Given the description of an element on the screen output the (x, y) to click on. 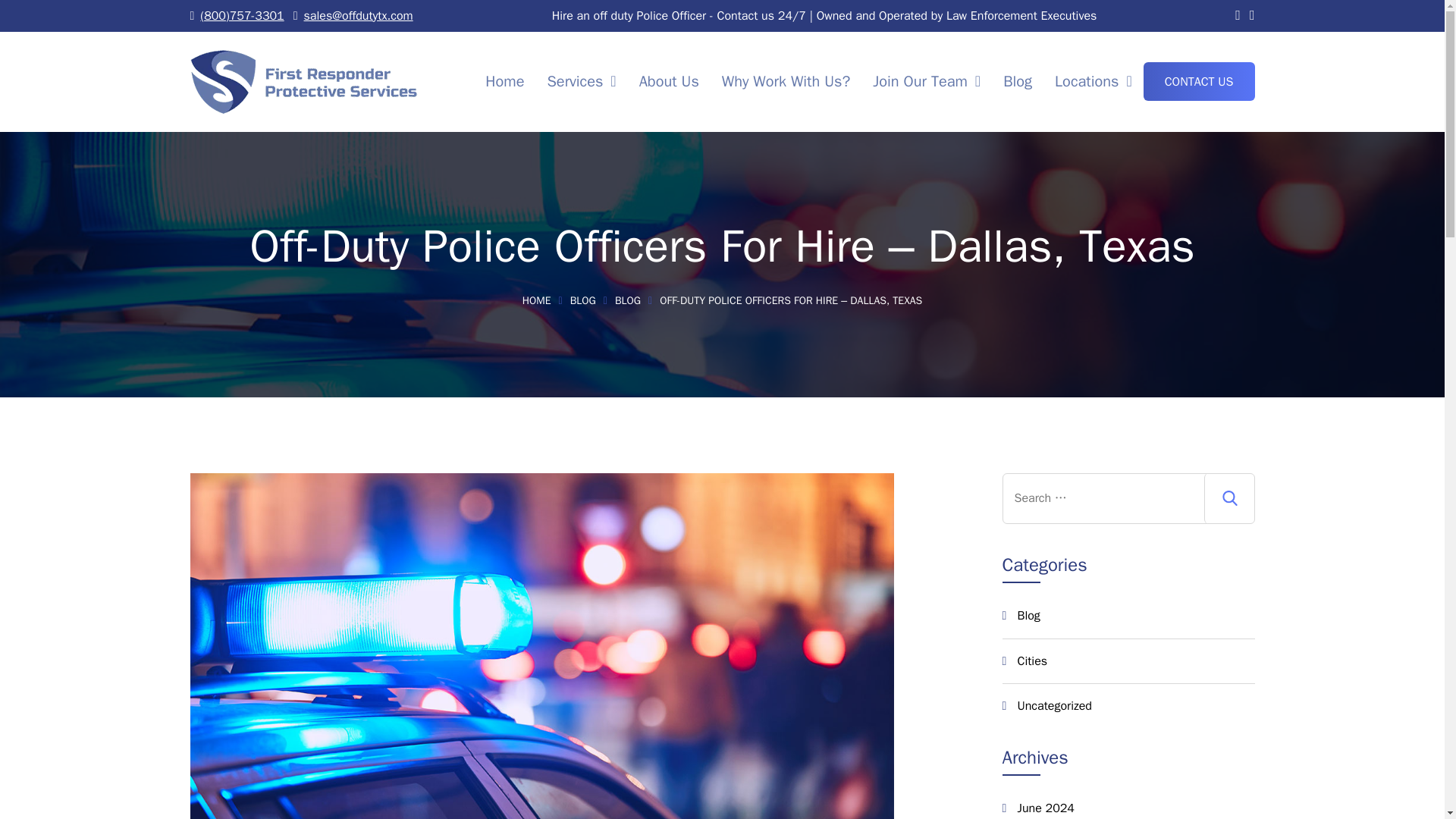
Home (504, 81)
Search (1229, 498)
Go to the Blog Category archives. (636, 300)
Join Our Team (926, 81)
Go to First Responder Protective Services Corp. (546, 300)
Why Work With Us? (785, 81)
About Us (668, 81)
First Responder Protective Services Corp (302, 80)
Search (1229, 498)
Services (581, 81)
Go to Blog. (592, 300)
